Given the description of an element on the screen output the (x, y) to click on. 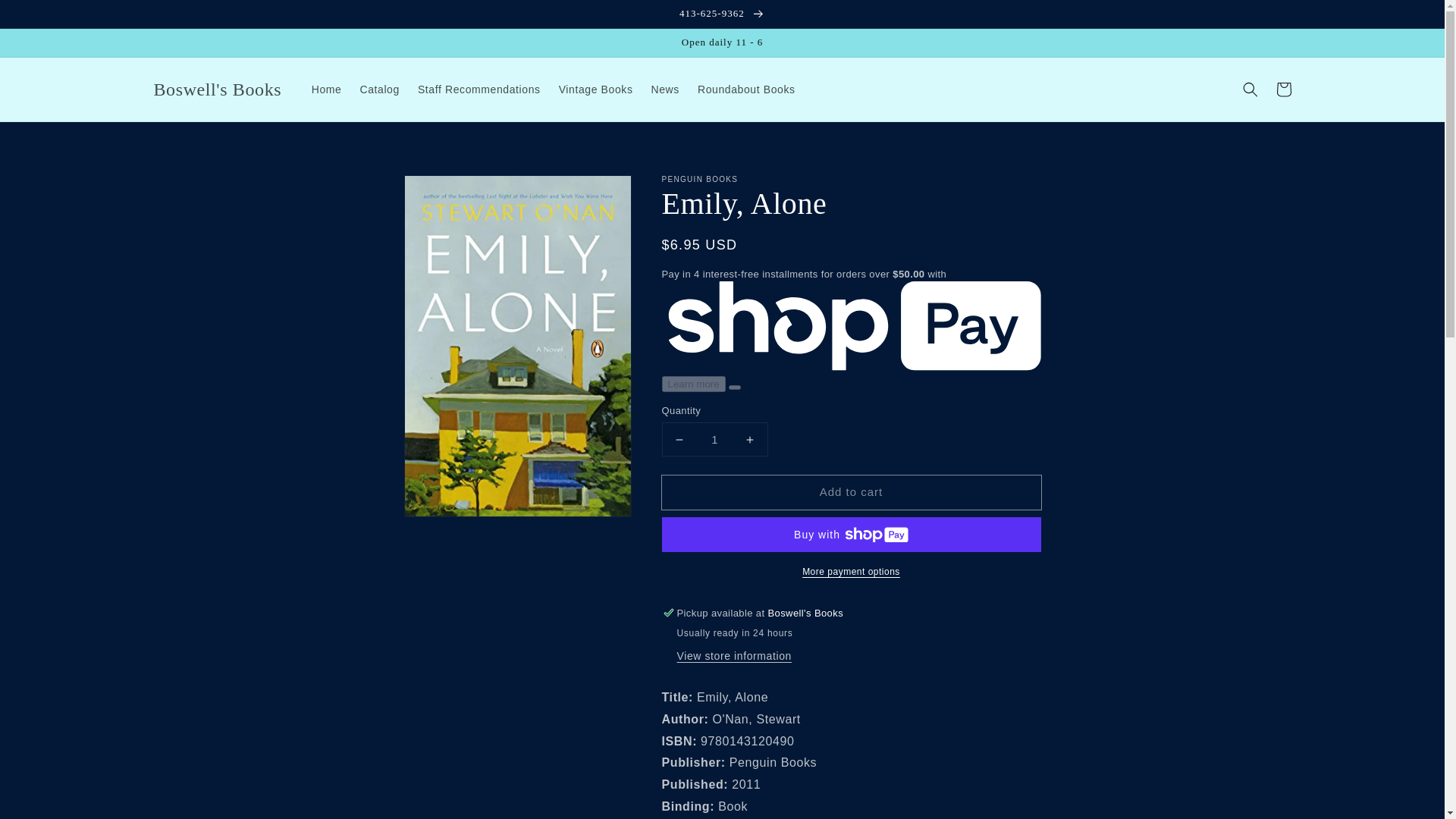
Decrease quantity for Emily, Alone (679, 439)
Add to cart (851, 492)
Increase quantity for Emily, Alone (749, 439)
Skip to content (45, 16)
Home (326, 89)
Vintage Books (596, 89)
Cart (1283, 89)
More payment options (851, 571)
Staff Recommendations (479, 89)
Catalog (378, 89)
